Given the description of an element on the screen output the (x, y) to click on. 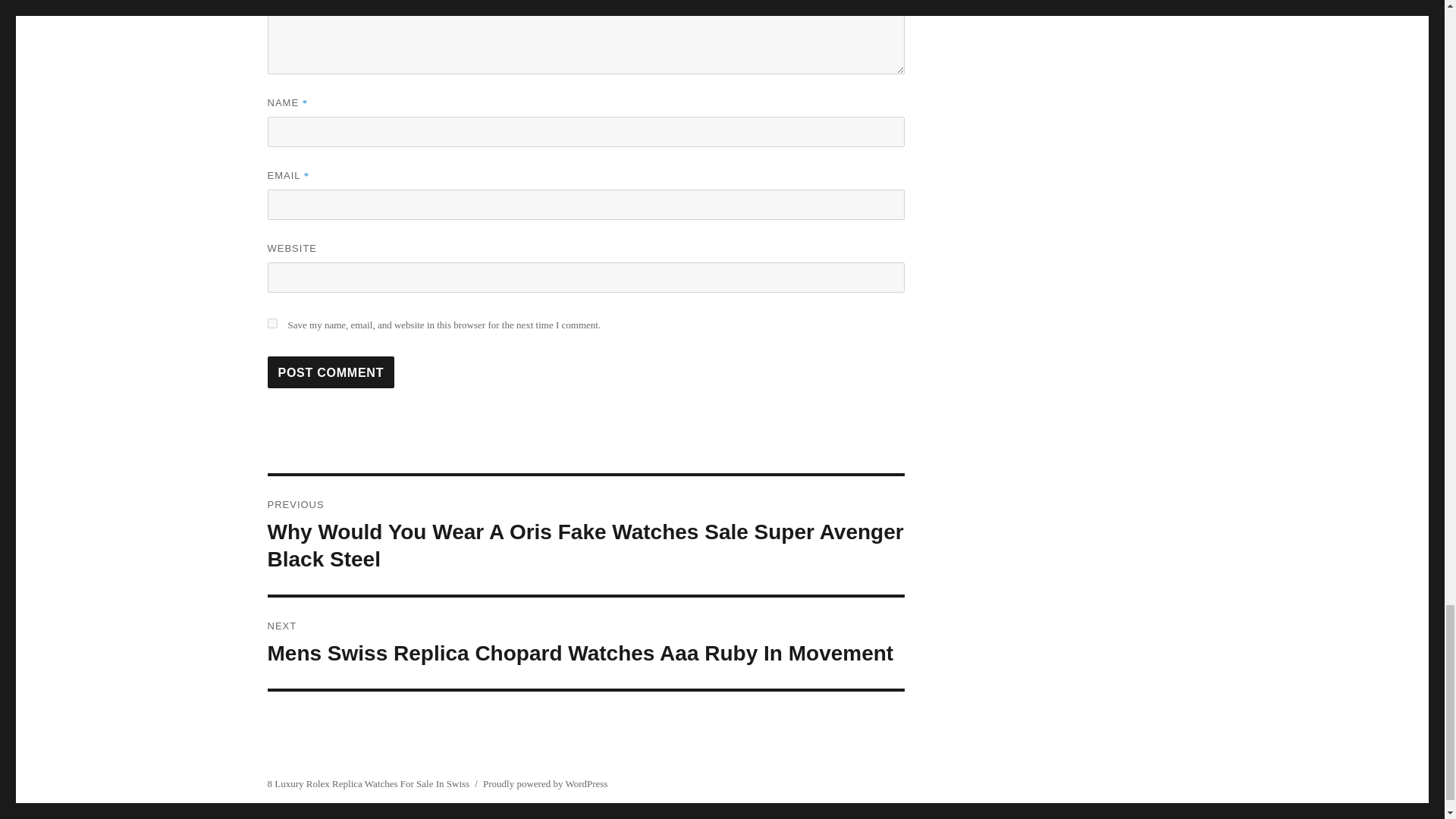
Post Comment (330, 372)
Post Comment (330, 372)
yes (271, 323)
